Given the description of an element on the screen output the (x, y) to click on. 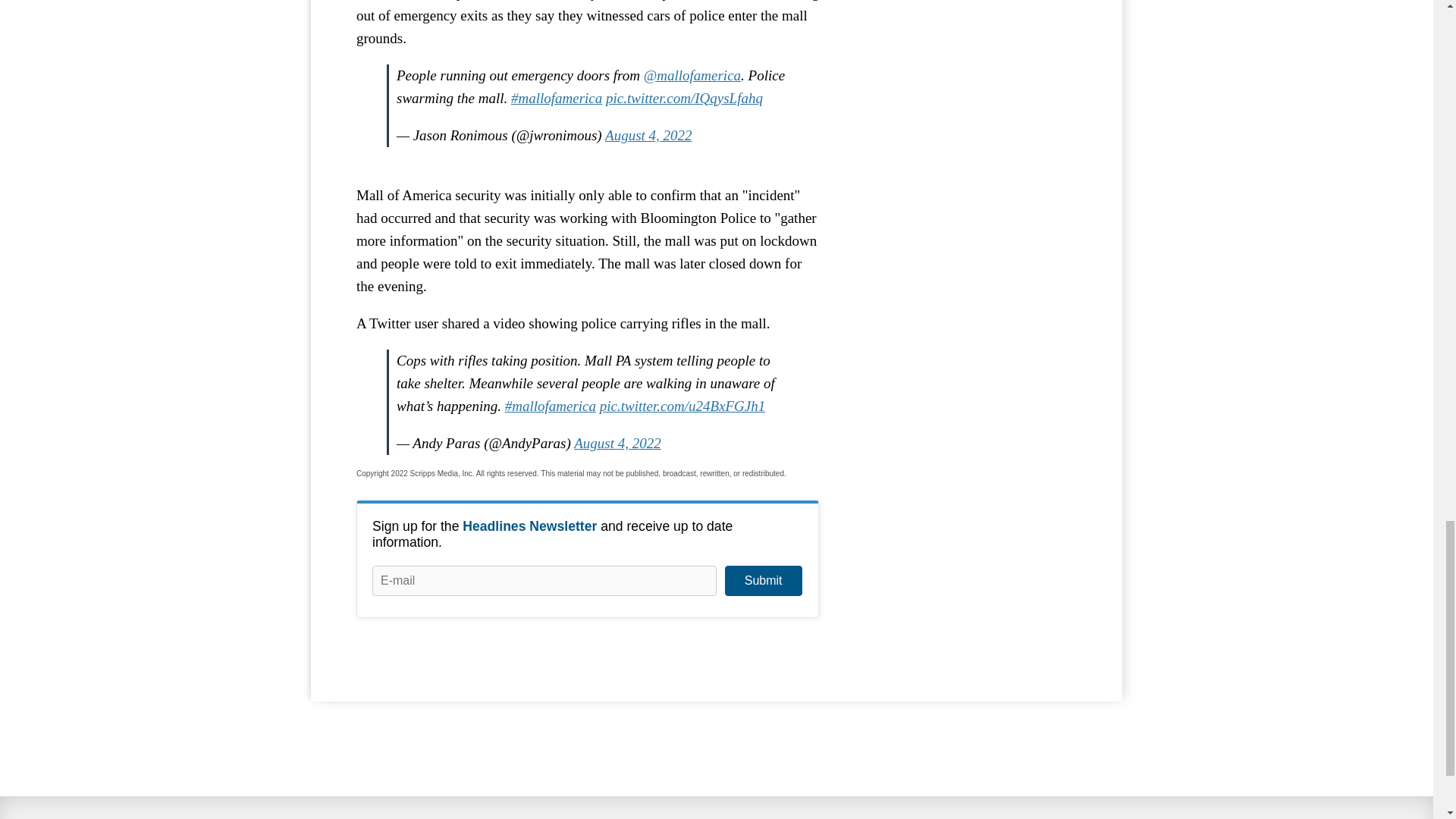
Submit (763, 580)
